Given the description of an element on the screen output the (x, y) to click on. 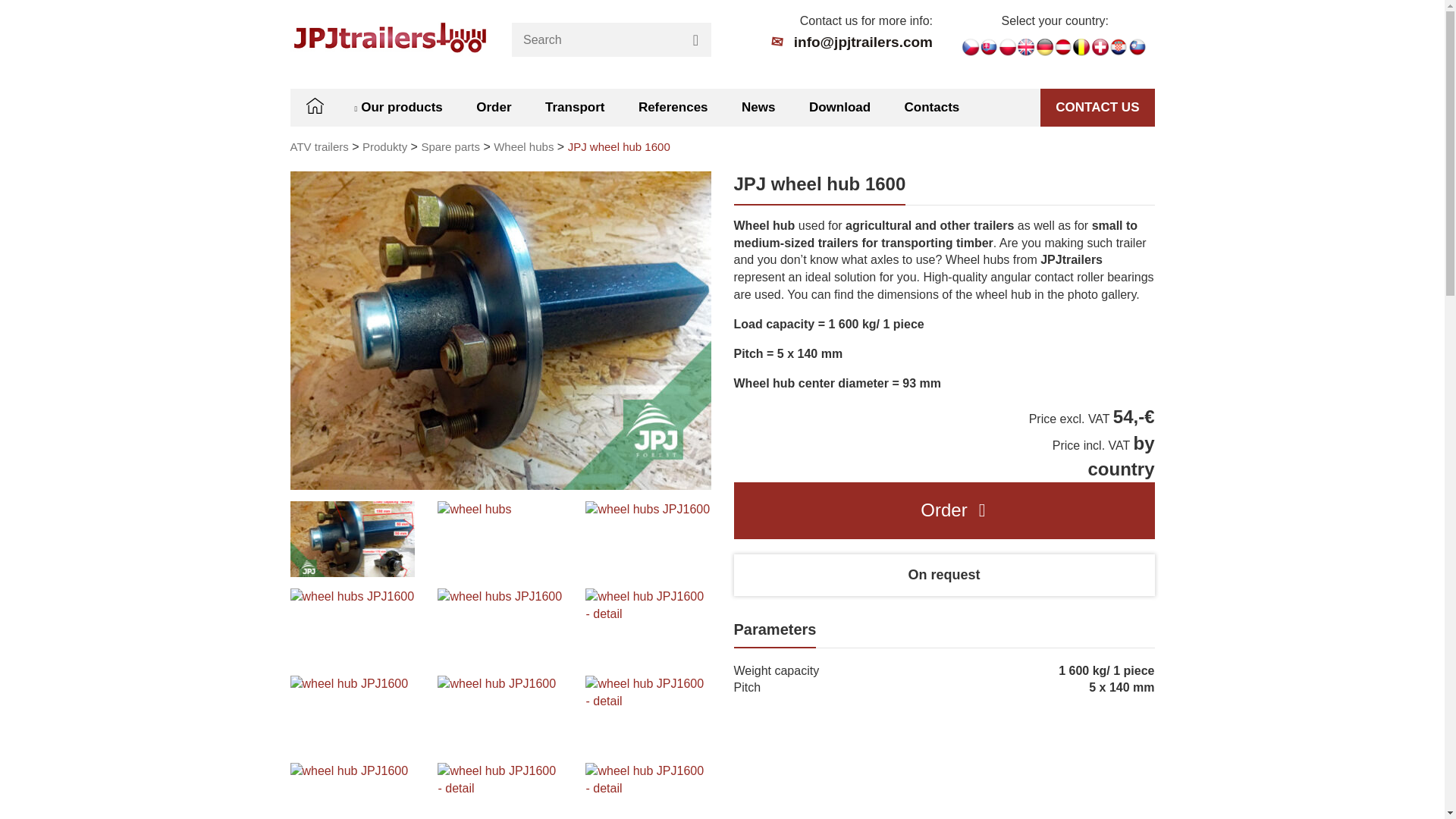
CONTACT US (1096, 107)
Produkty (384, 146)
Transport (574, 107)
Go to the Wheel hubs Kategorie archives. (523, 146)
Contacts (931, 107)
Our products (398, 107)
Spare parts (450, 146)
Download (839, 107)
Order (493, 107)
References (673, 107)
